Given the description of an element on the screen output the (x, y) to click on. 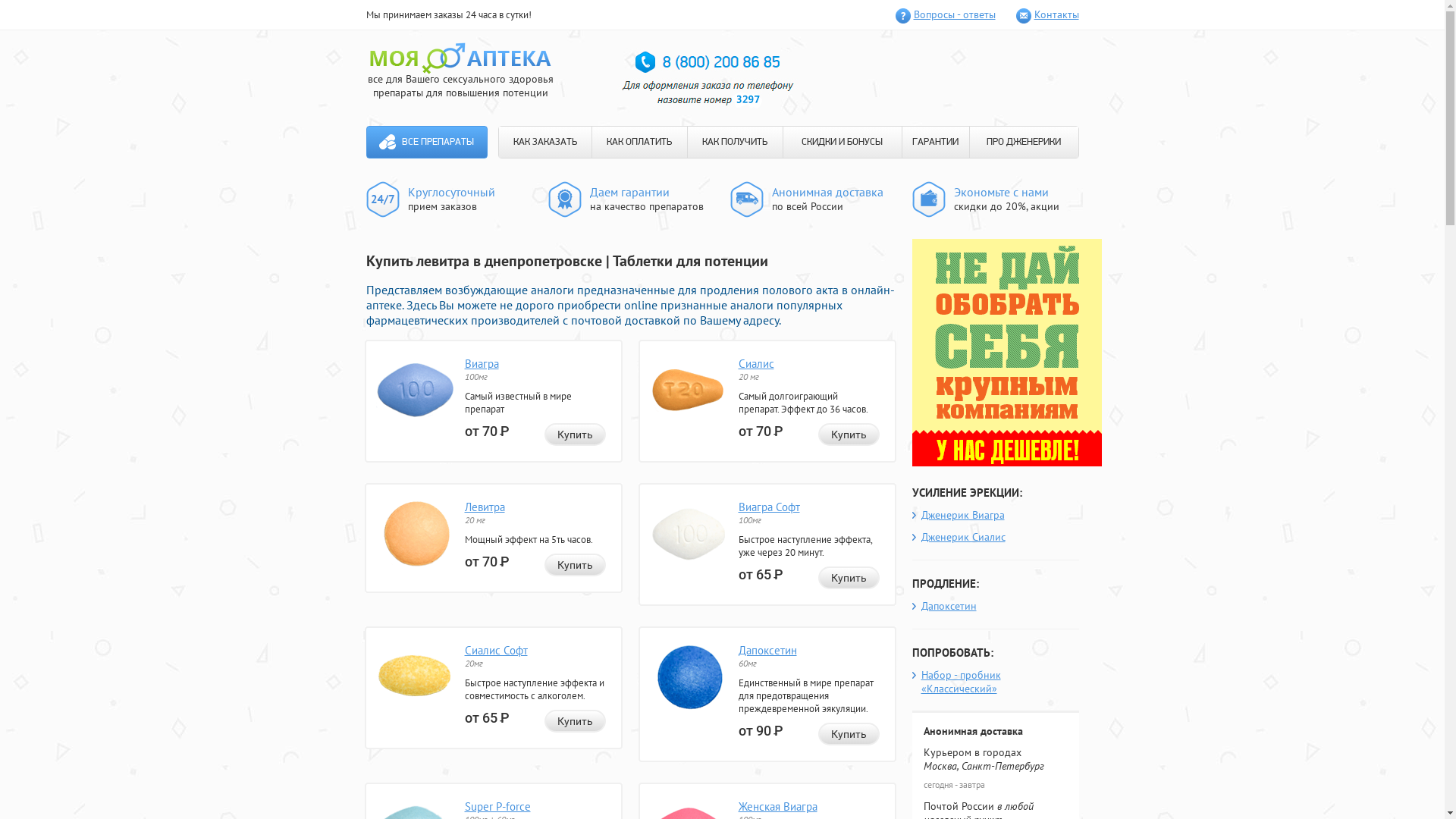
Super P-force Element type: text (497, 806)
